Given the description of an element on the screen output the (x, y) to click on. 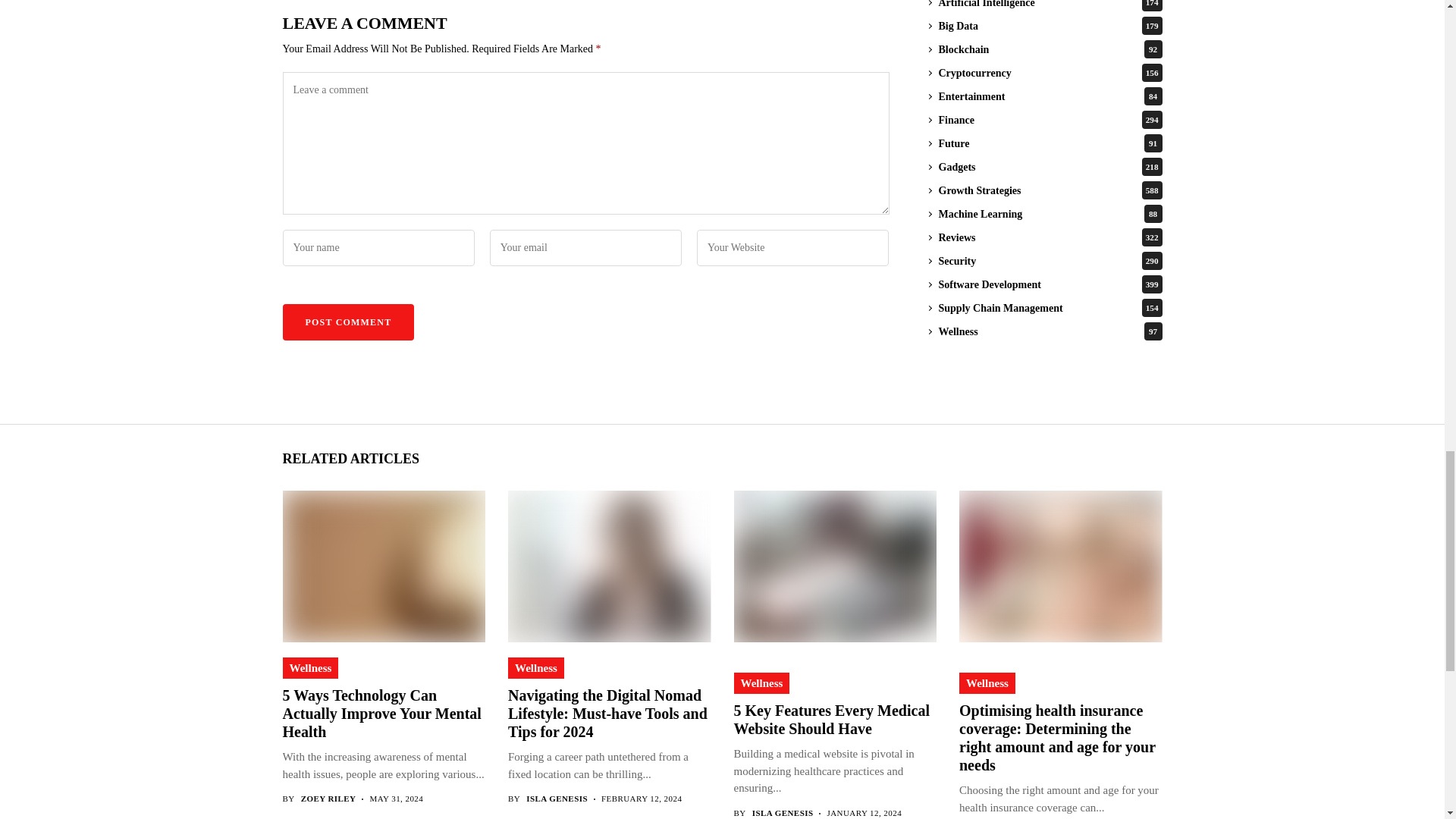
Posts by Isla Genesis (782, 813)
Posts by Zoey Riley (328, 798)
Post Comment (347, 321)
Please wait until Google reCAPTCHA is loaded. (347, 321)
Posts by Isla Genesis (556, 798)
